Given the description of an element on the screen output the (x, y) to click on. 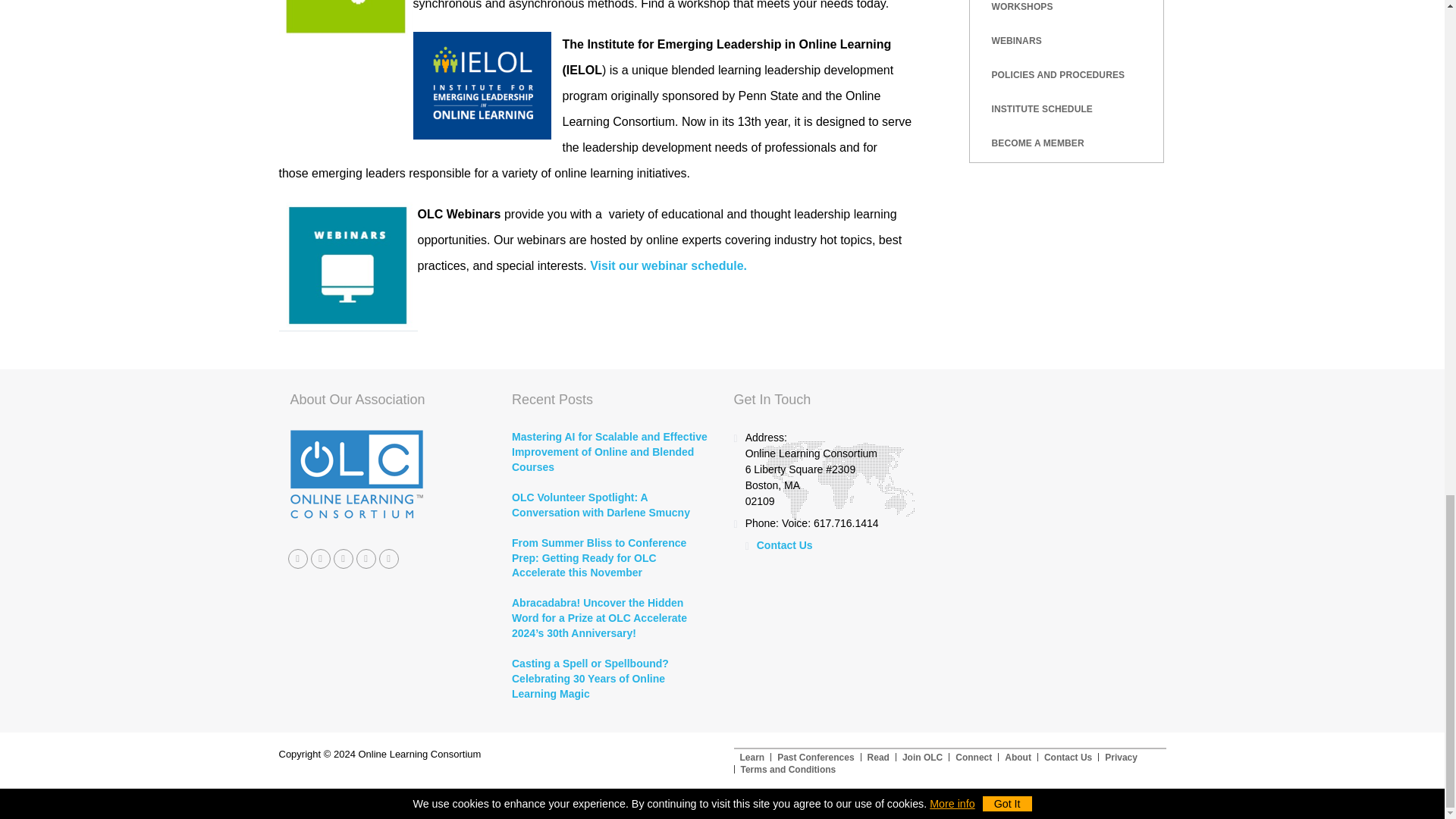
twitter (320, 558)
instagram (343, 558)
linkedin (388, 558)
youtube (365, 558)
facebook (297, 558)
